Given the description of an element on the screen output the (x, y) to click on. 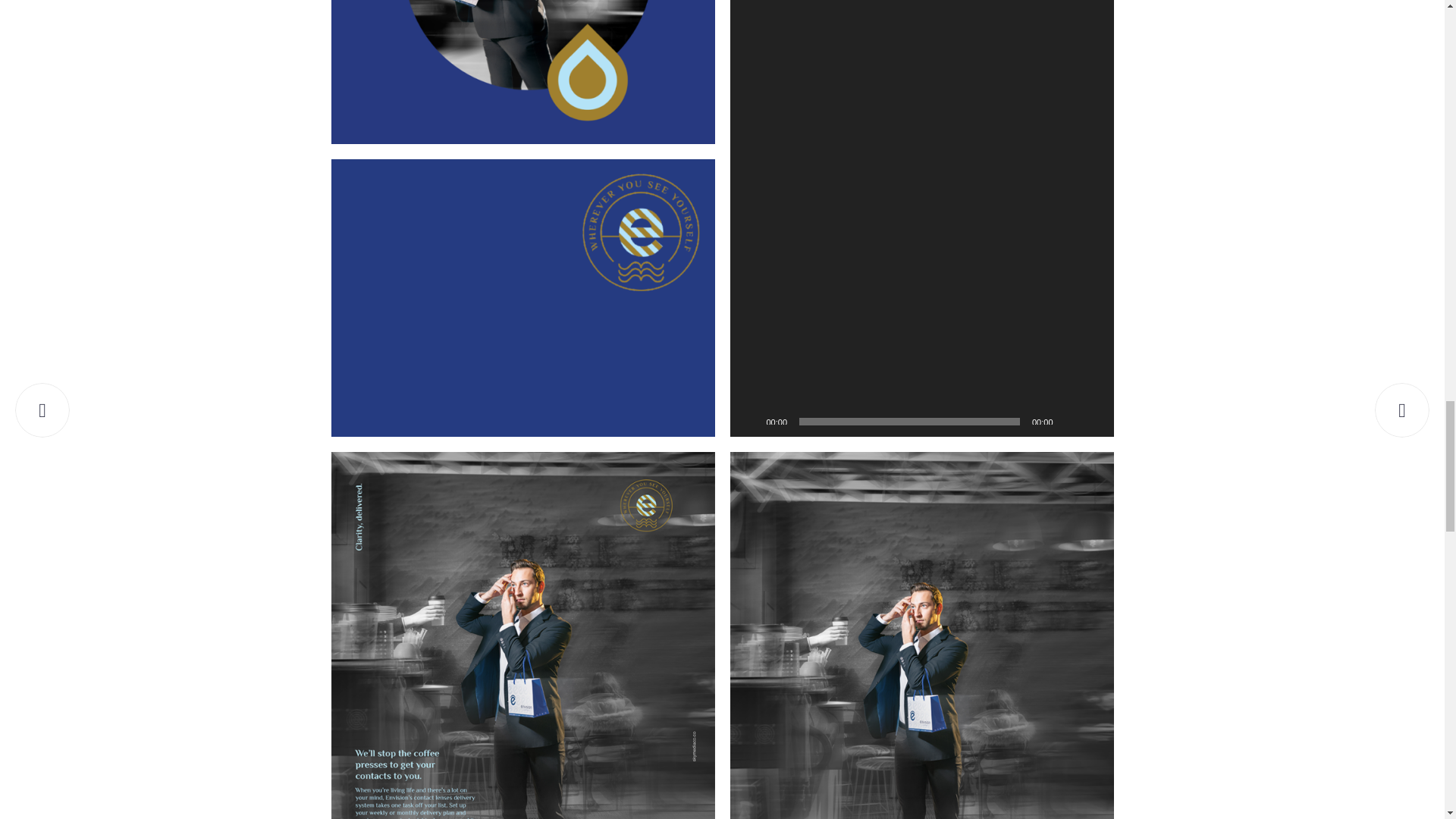
envision logo (522, 296)
Envision-img-06 (522, 72)
